Given the description of an element on the screen output the (x, y) to click on. 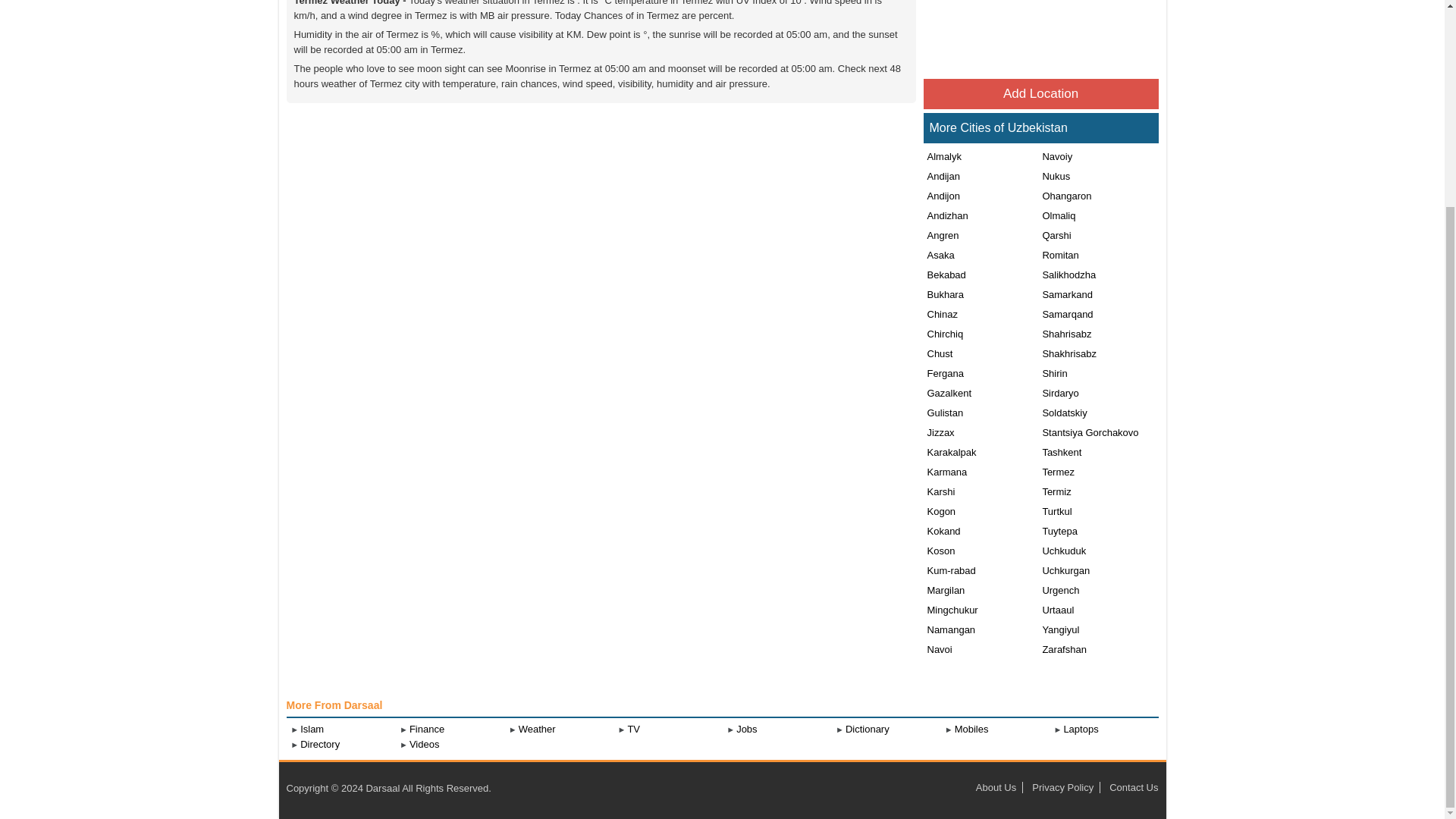
Andijan (941, 176)
Andijon (941, 196)
Bukhara (943, 294)
Add Location (1040, 93)
Bekabad (944, 274)
Almalyk (942, 156)
Andizhan (945, 215)
Asaka (939, 255)
Chust (938, 353)
Chinaz (940, 314)
